Given the description of an element on the screen output the (x, y) to click on. 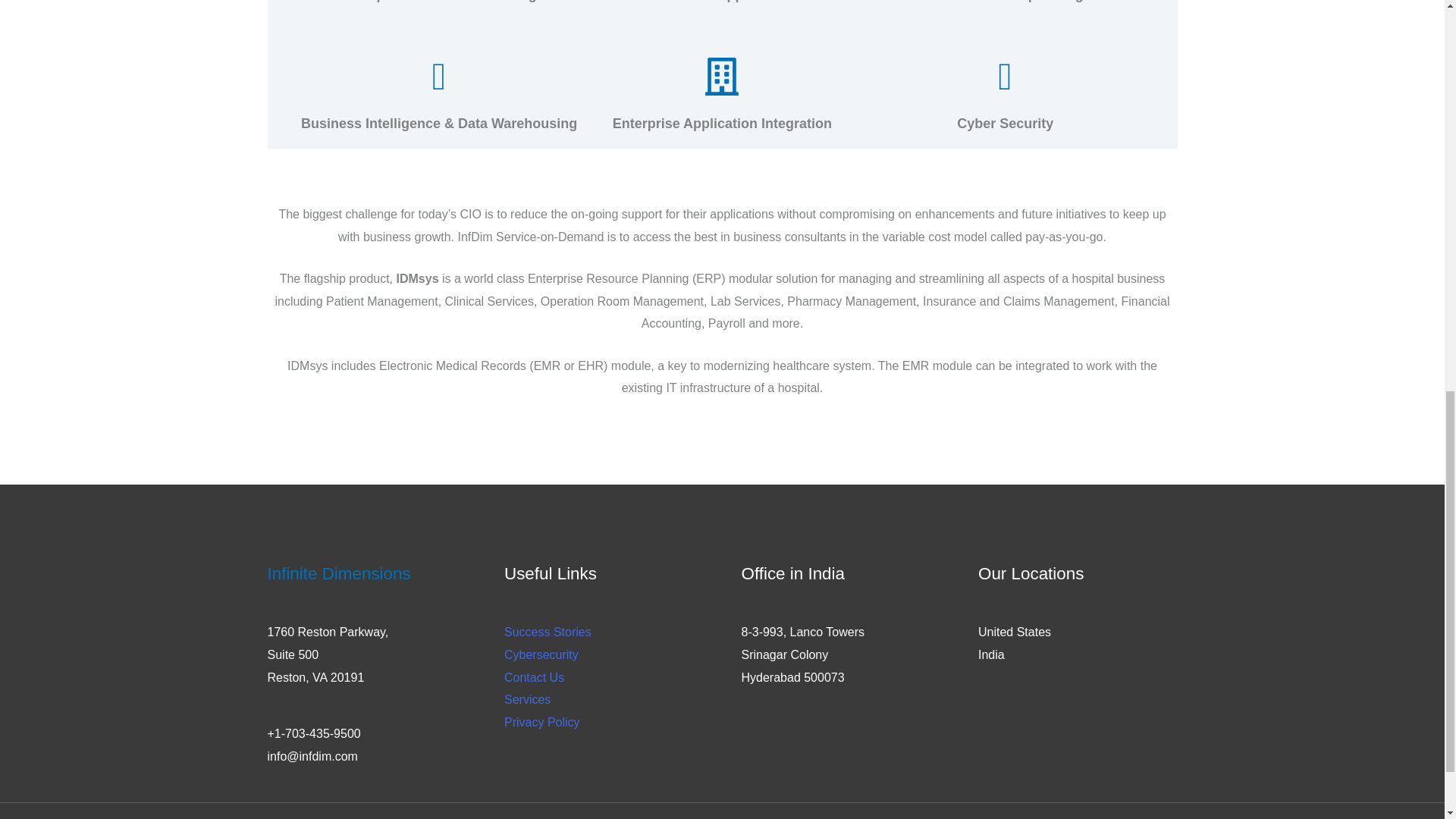
Success Stories (547, 631)
Privacy Policy (541, 721)
Cybersecurity (540, 654)
Contact Us (533, 676)
Services (526, 698)
